Given the description of an element on the screen output the (x, y) to click on. 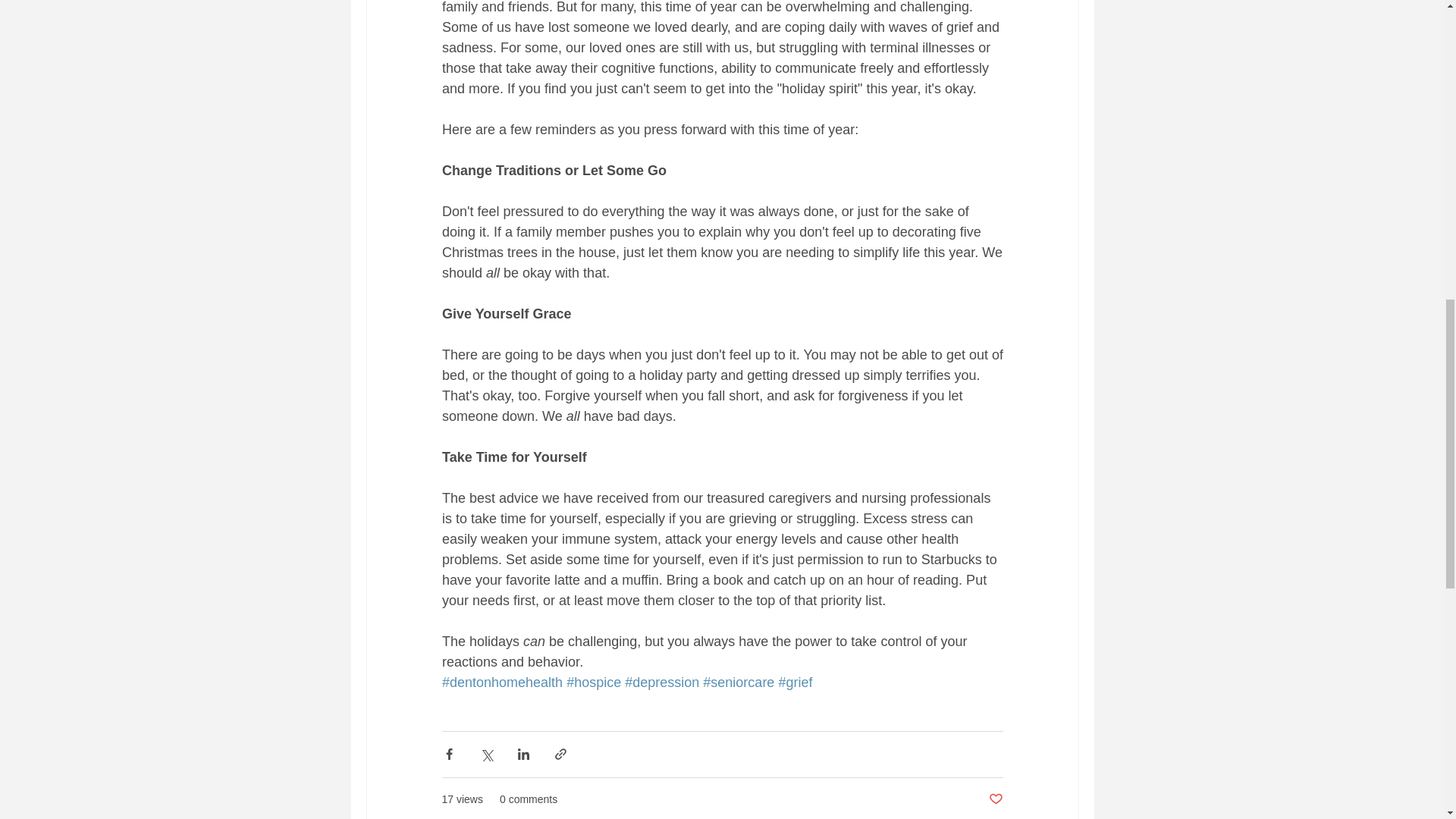
Post not marked as liked (995, 799)
